Given the description of an element on the screen output the (x, y) to click on. 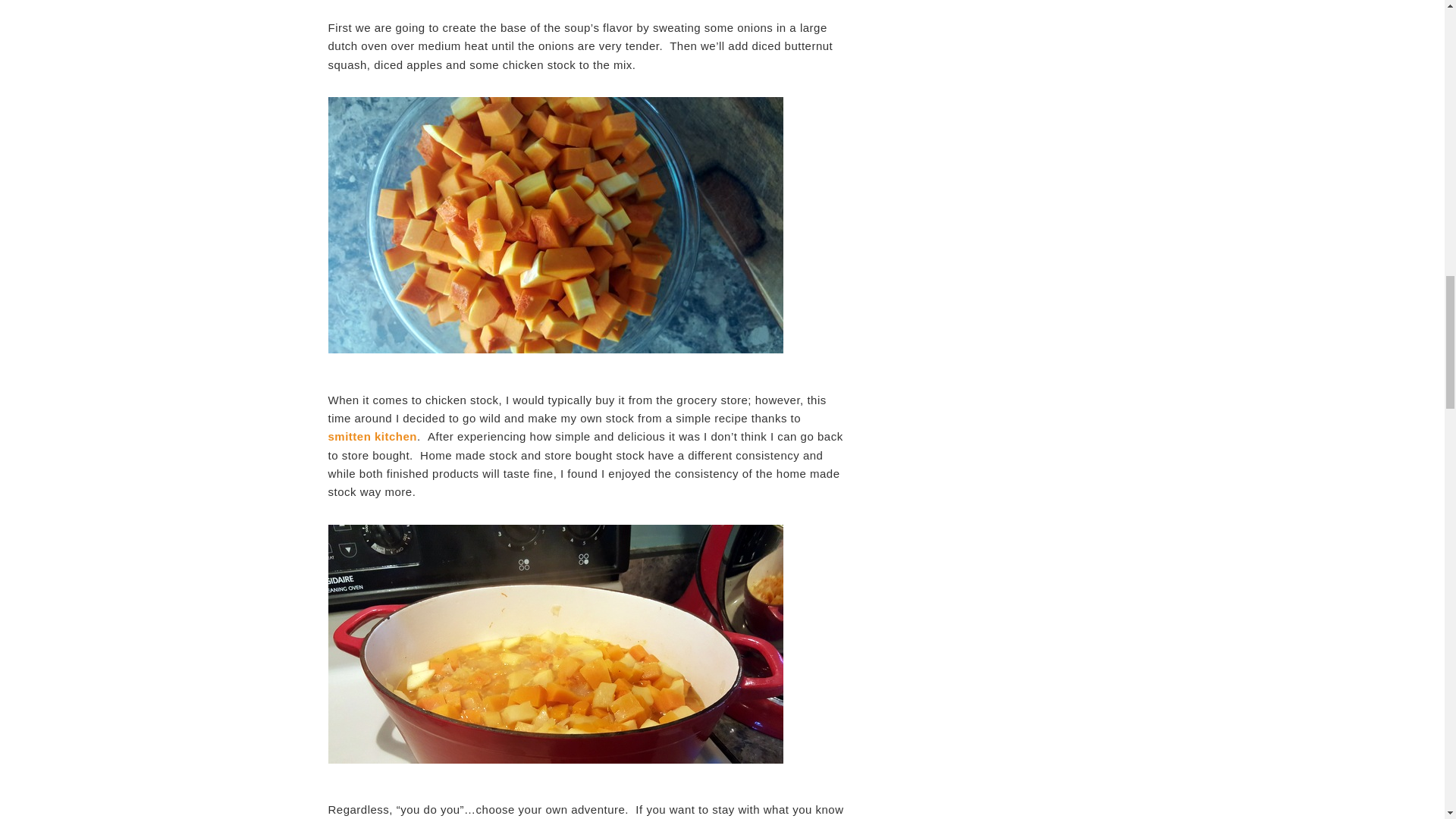
smitten kitchen (371, 436)
